Given the description of an element on the screen output the (x, y) to click on. 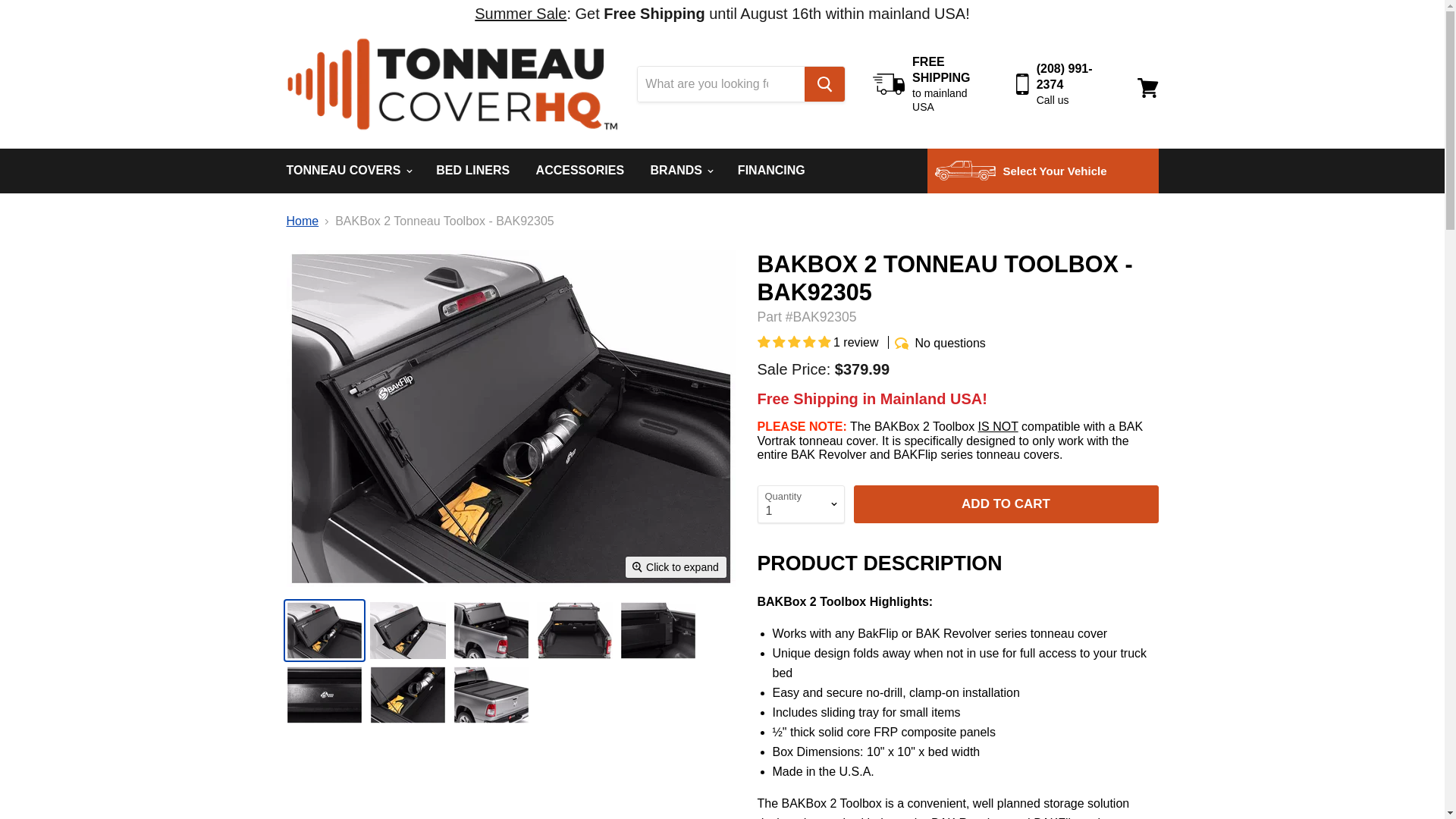
Search (824, 83)
Home (302, 221)
BED LINERS (473, 170)
TONNEAU COVERS (347, 170)
View cart (1147, 87)
ACCESSORIES (579, 170)
Click to expand (676, 567)
BRANDS (681, 170)
FINANCING (771, 170)
